Given the description of an element on the screen output the (x, y) to click on. 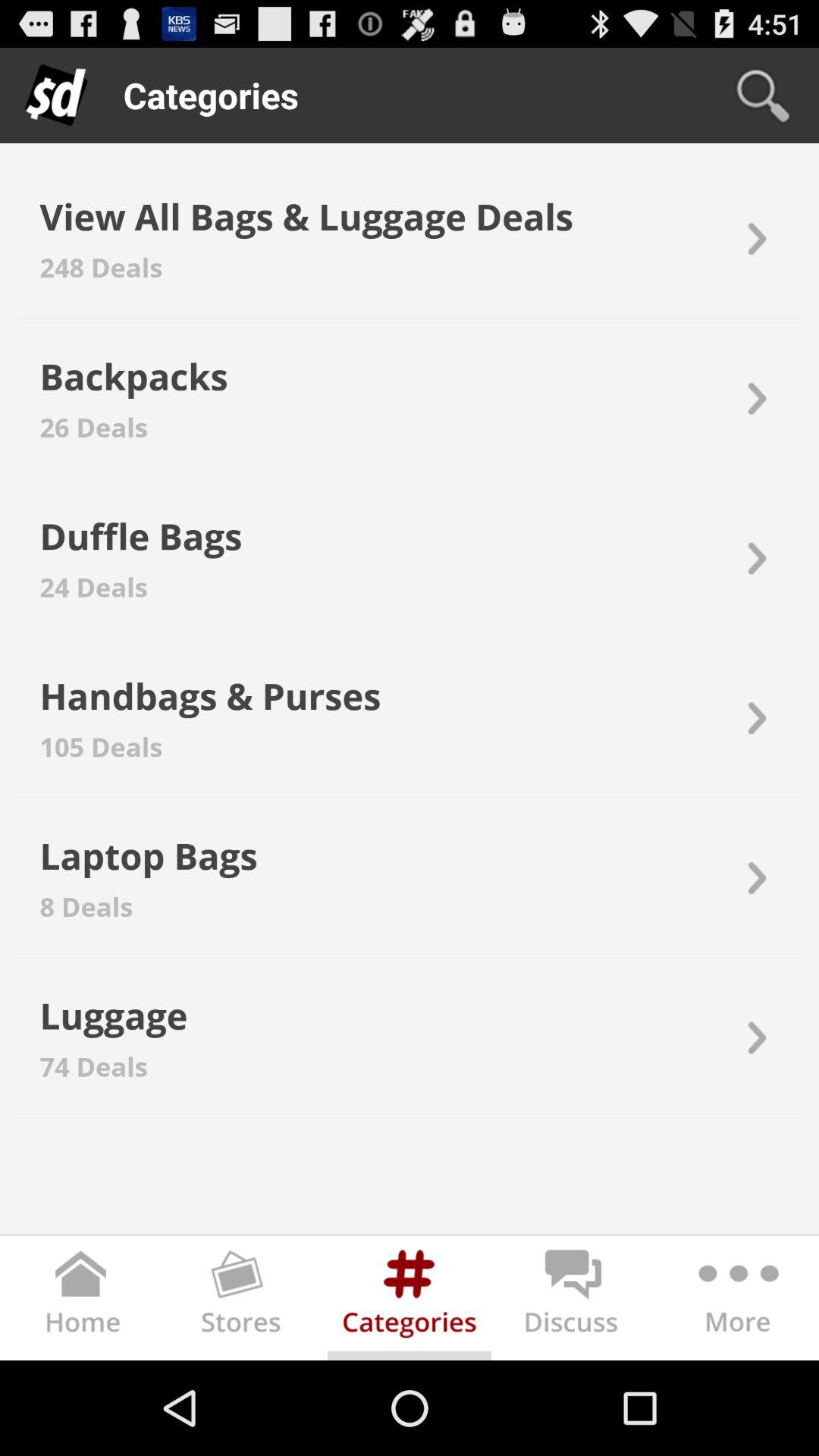
see more options (736, 1300)
